Given the description of an element on the screen output the (x, y) to click on. 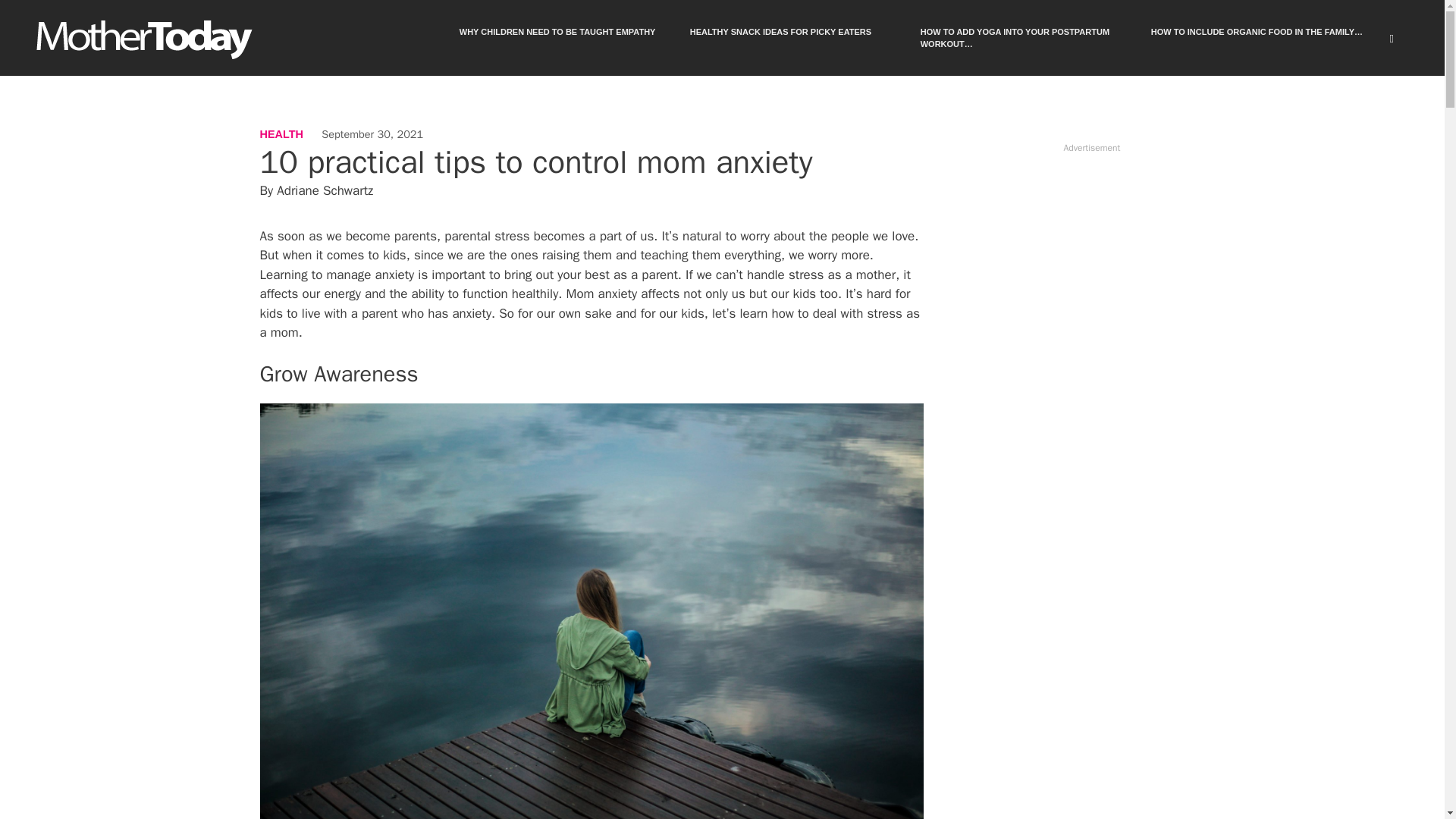
HEALTHY SNACK IDEAS FOR PICKY EATERS (799, 37)
HEALTH (280, 133)
HEALTH (280, 133)
WHY CHILDREN NEED TO BE TAUGHT EMPATHY (569, 37)
